Given the description of an element on the screen output the (x, y) to click on. 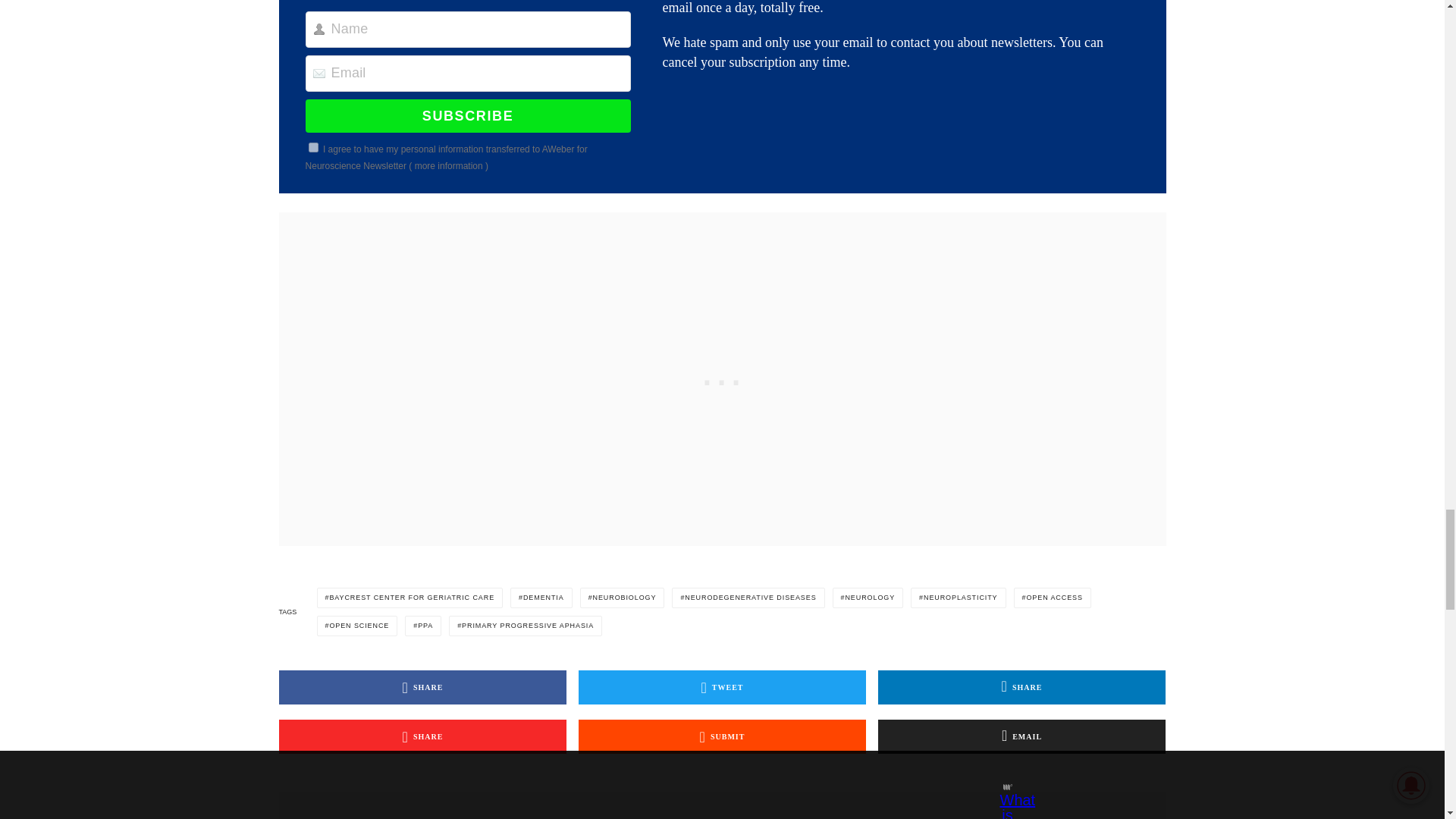
EMAIL (1021, 736)
NEURODEGENERATIVE DISEASES (747, 598)
SUBSCRIBE (467, 115)
more information (448, 165)
SUBSCRIBE (467, 115)
PRIMARY PROGRESSIVE APHASIA (525, 625)
BAYCREST CENTER FOR GERIATRIC CARE (410, 598)
OPEN ACCESS (1051, 598)
on (313, 147)
SHARE (423, 687)
DEMENTIA (541, 598)
NEUROBIOLOGY (622, 598)
SHARE (423, 736)
TWEET (722, 687)
NEUROLOGY (868, 598)
